Given the description of an element on the screen output the (x, y) to click on. 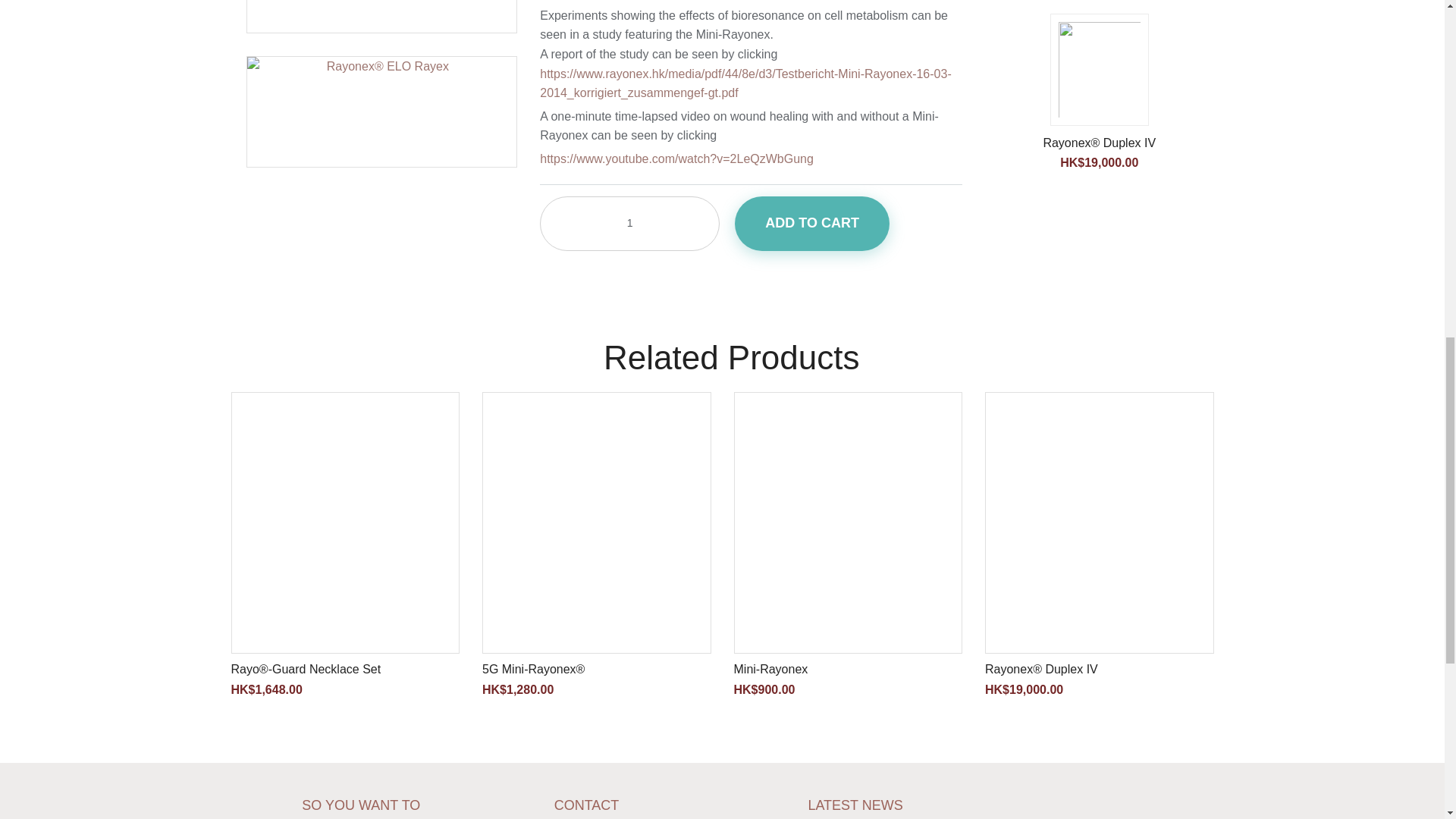
1 (629, 223)
